Given the description of an element on the screen output the (x, y) to click on. 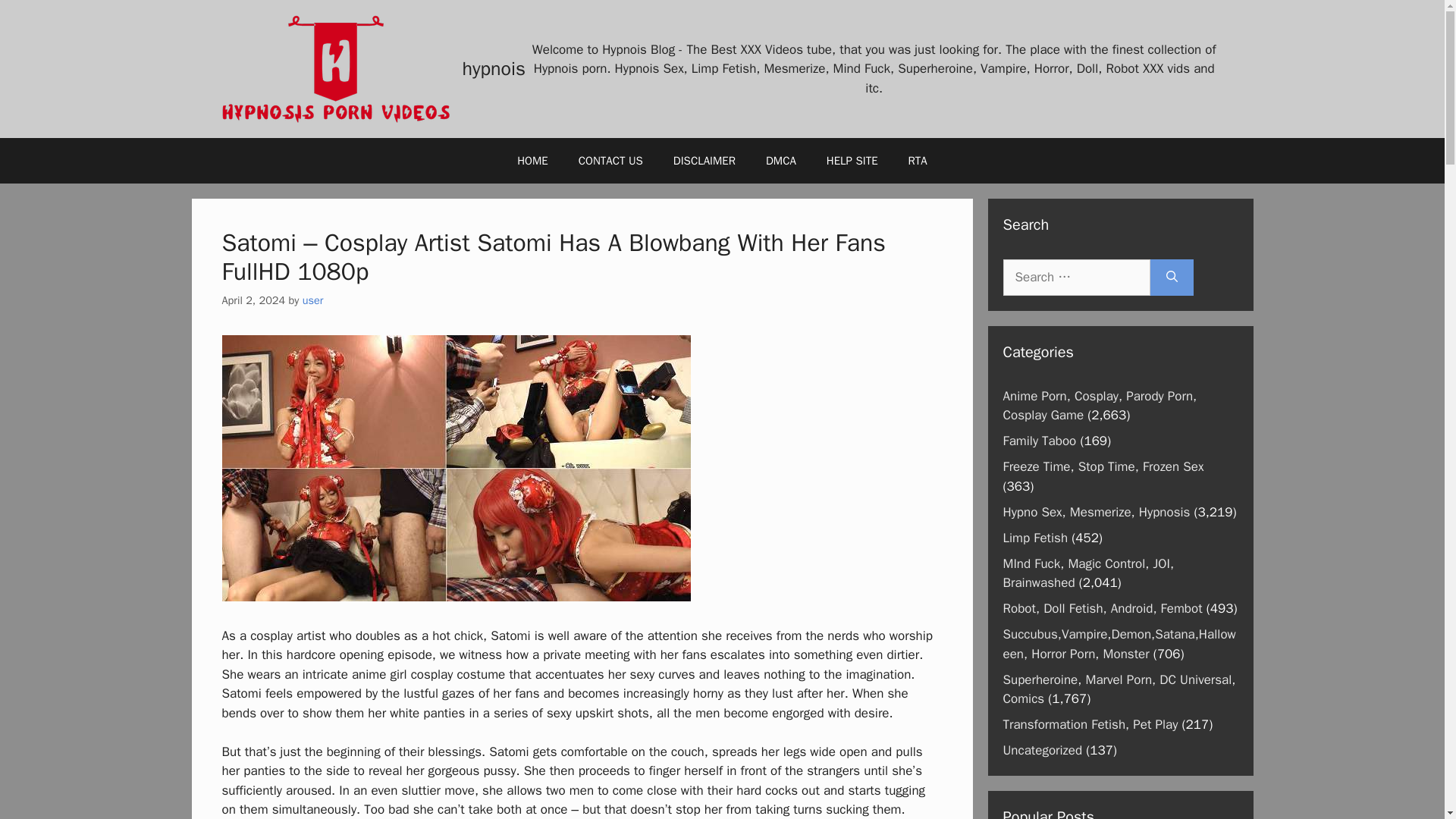
HOME (532, 160)
hypnois (494, 68)
hypnois (334, 68)
HELP SITE (851, 160)
user (312, 300)
hypnois (334, 67)
Search for: (1076, 277)
Anime Porn, Cosplay, Parody Porn, Cosplay Game (1099, 406)
Family Taboo (1039, 440)
View all posts by user (312, 300)
Freeze Time, Stop Time, Frozen Sex (1103, 466)
DISCLAIMER (704, 160)
Limp Fetish (1035, 537)
DMCA (780, 160)
Hypno Sex, Mesmerize, Hypnosis (1096, 511)
